Given the description of an element on the screen output the (x, y) to click on. 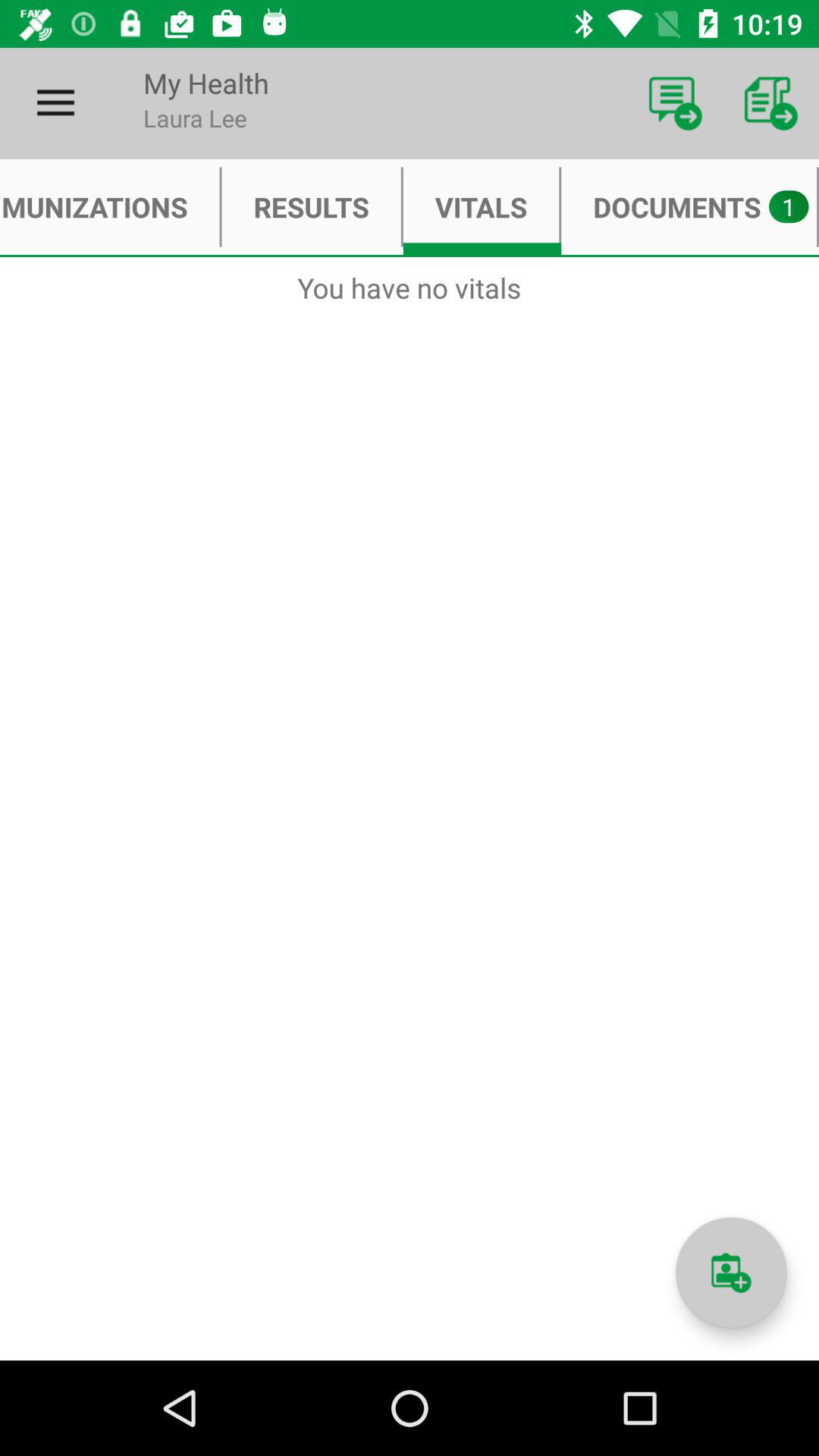
turn off the item next to my health (55, 103)
